Given the description of an element on the screen output the (x, y) to click on. 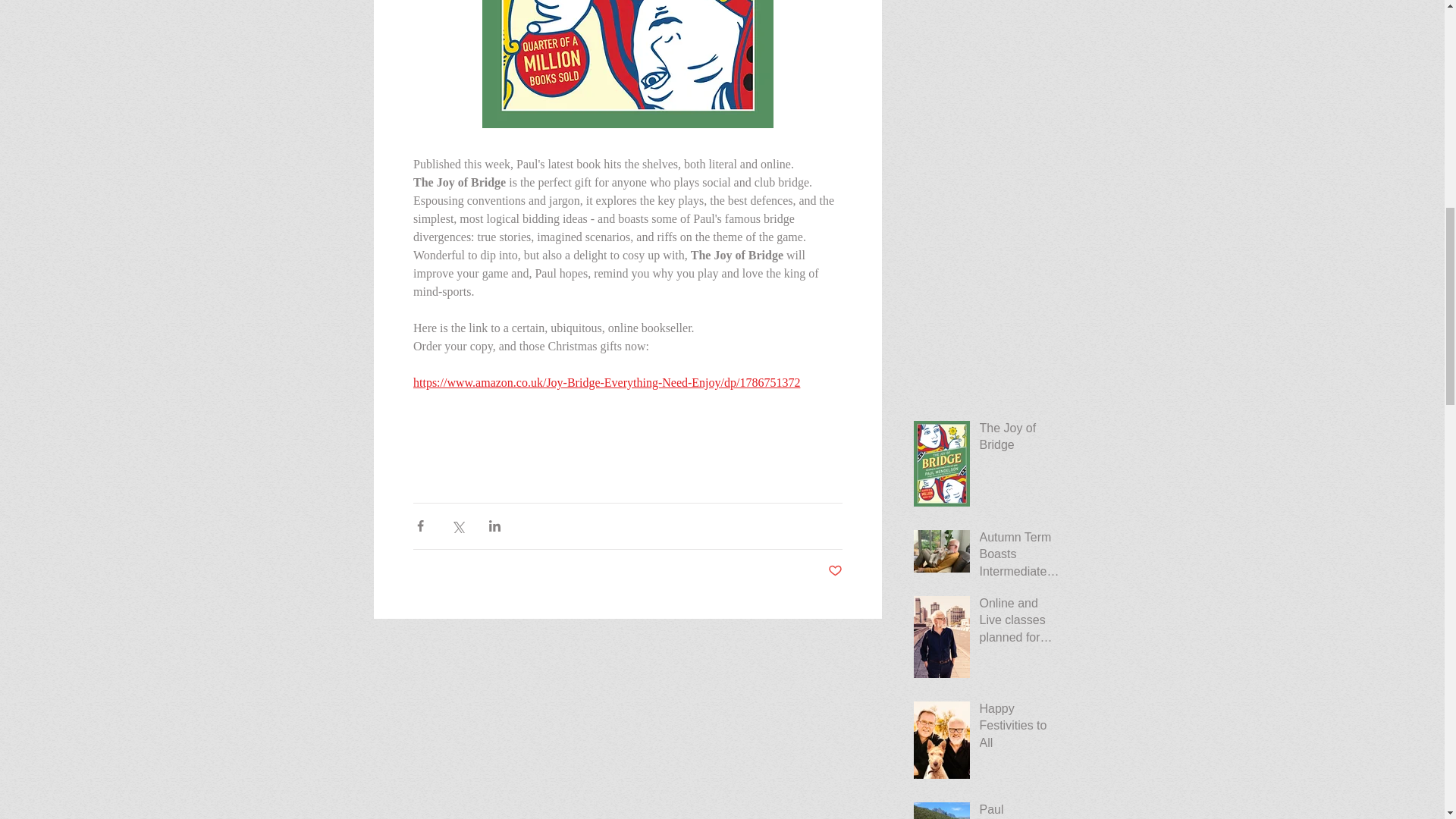
The Joy of Bridge (1020, 440)
Online and Live classes planned for 2023 (1020, 623)
Happy Festivities to All (1020, 729)
Paul Mendelson - New Base (1020, 810)
Post not marked as liked (835, 571)
